Given the description of an element on the screen output the (x, y) to click on. 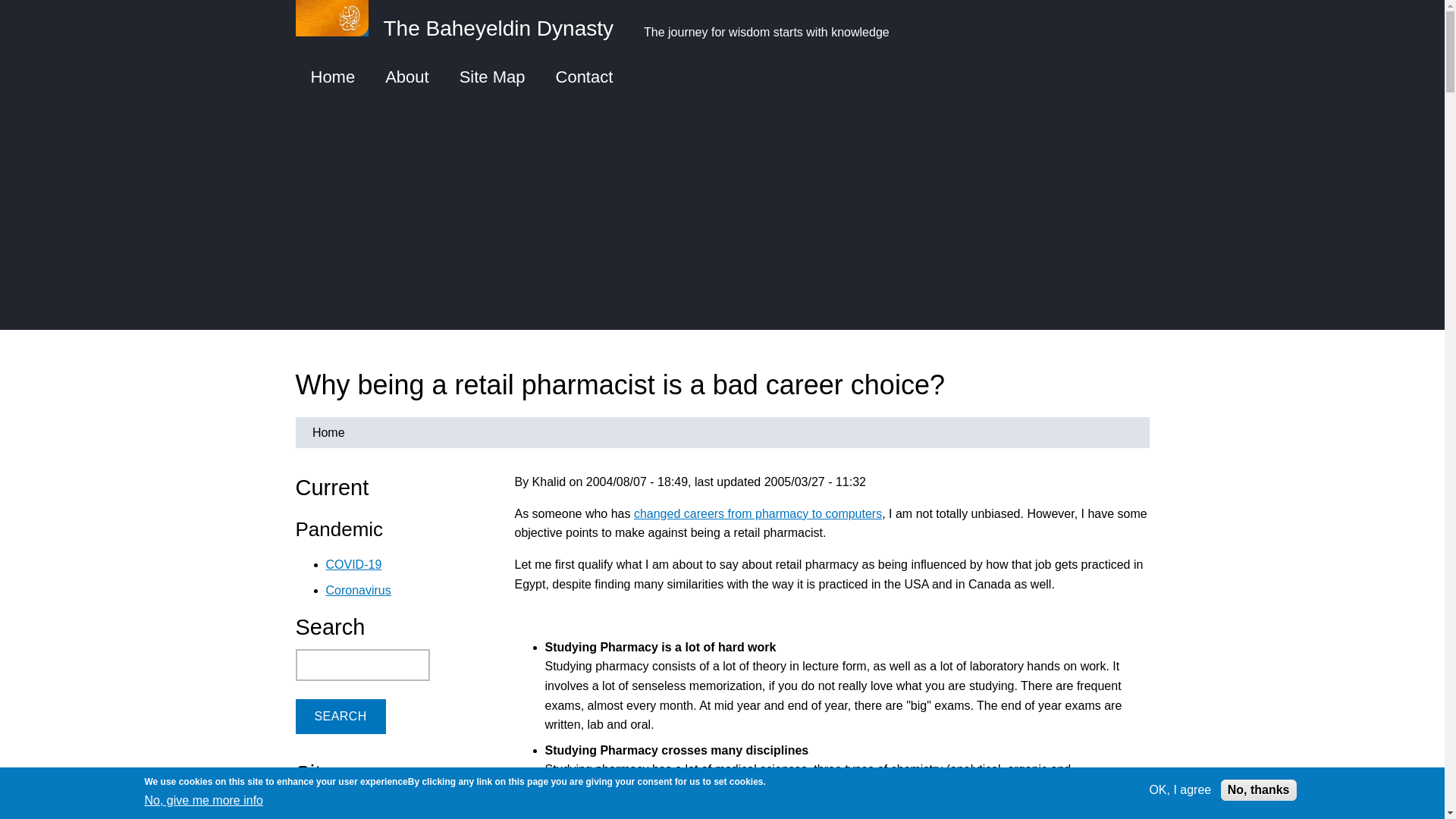
Search (340, 716)
About (406, 76)
Contact (584, 76)
Home (461, 25)
Home (328, 432)
Home (333, 76)
The Baheyeldin Dynasty (461, 25)
